Given the description of an element on the screen output the (x, y) to click on. 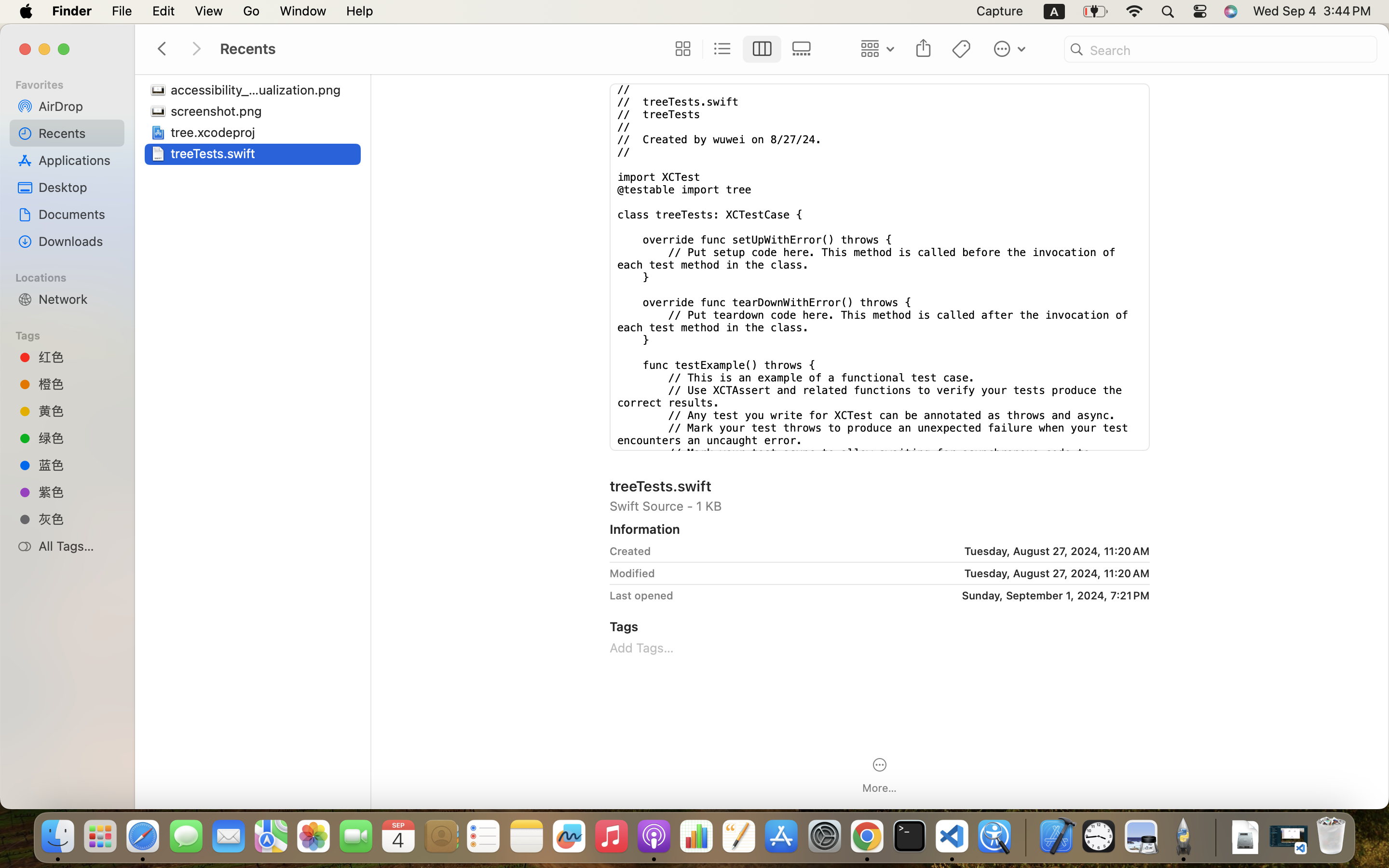
Favorites Element type: AXStaticText (72, 83)
红色 Element type: AXStaticText (77, 356)
Documents Element type: AXStaticText (77, 213)
Applications Element type: AXStaticText (77, 159)
All Tags… Element type: AXStaticText (77, 545)
